Given the description of an element on the screen output the (x, y) to click on. 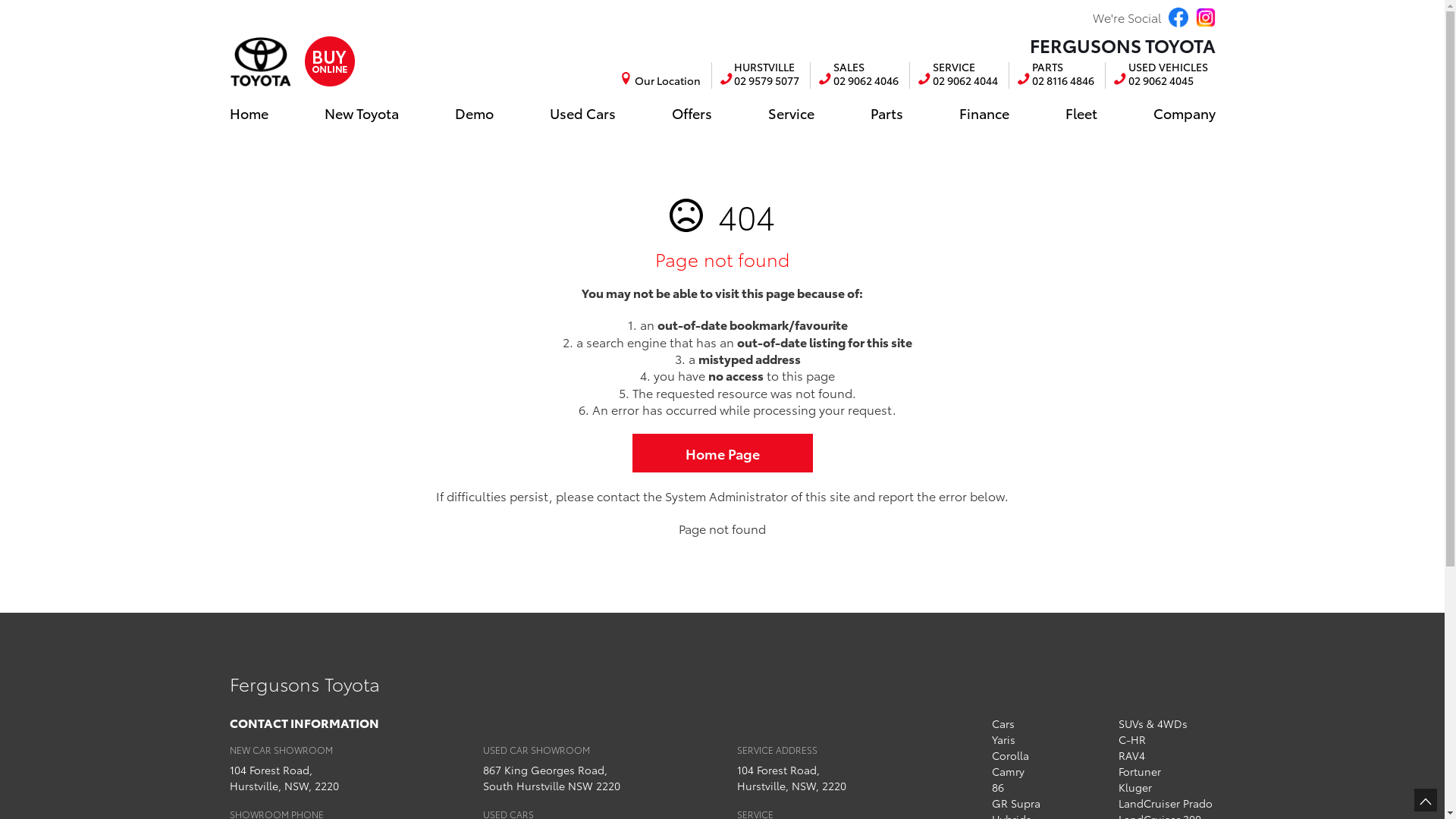
USED VEHICLES
02 9062 4045 Element type: text (1159, 75)
LandCruiser Prado Element type: text (1165, 802)
Company Element type: text (1179, 112)
New Toyota Element type: text (361, 112)
Kluger Element type: text (1134, 786)
Camry Element type: text (1007, 770)
SERVICE
02 9062 4044 Element type: text (957, 75)
Offers Element type: text (691, 112)
HURSTVILLE
02 9579 5077 Element type: text (759, 75)
Used Cars Element type: text (581, 112)
Home Element type: text (252, 112)
Home Page Element type: text (722, 453)
Fortuner Element type: text (1139, 770)
C-HR Element type: text (1131, 738)
Yaris Element type: text (1003, 738)
PARTS
02 8116 4846 Element type: text (1054, 75)
RAV4 Element type: text (1131, 754)
Demo Element type: text (474, 112)
GR Supra Element type: text (1015, 802)
Our Location Element type: text (663, 80)
Service Element type: text (790, 112)
86 Element type: text (997, 786)
Finance Element type: text (983, 112)
SALES
02 9062 4046 Element type: text (857, 75)
Parts Element type: text (886, 112)
Fleet Element type: text (1080, 112)
Corolla Element type: text (1010, 754)
